Given the description of an element on the screen output the (x, y) to click on. 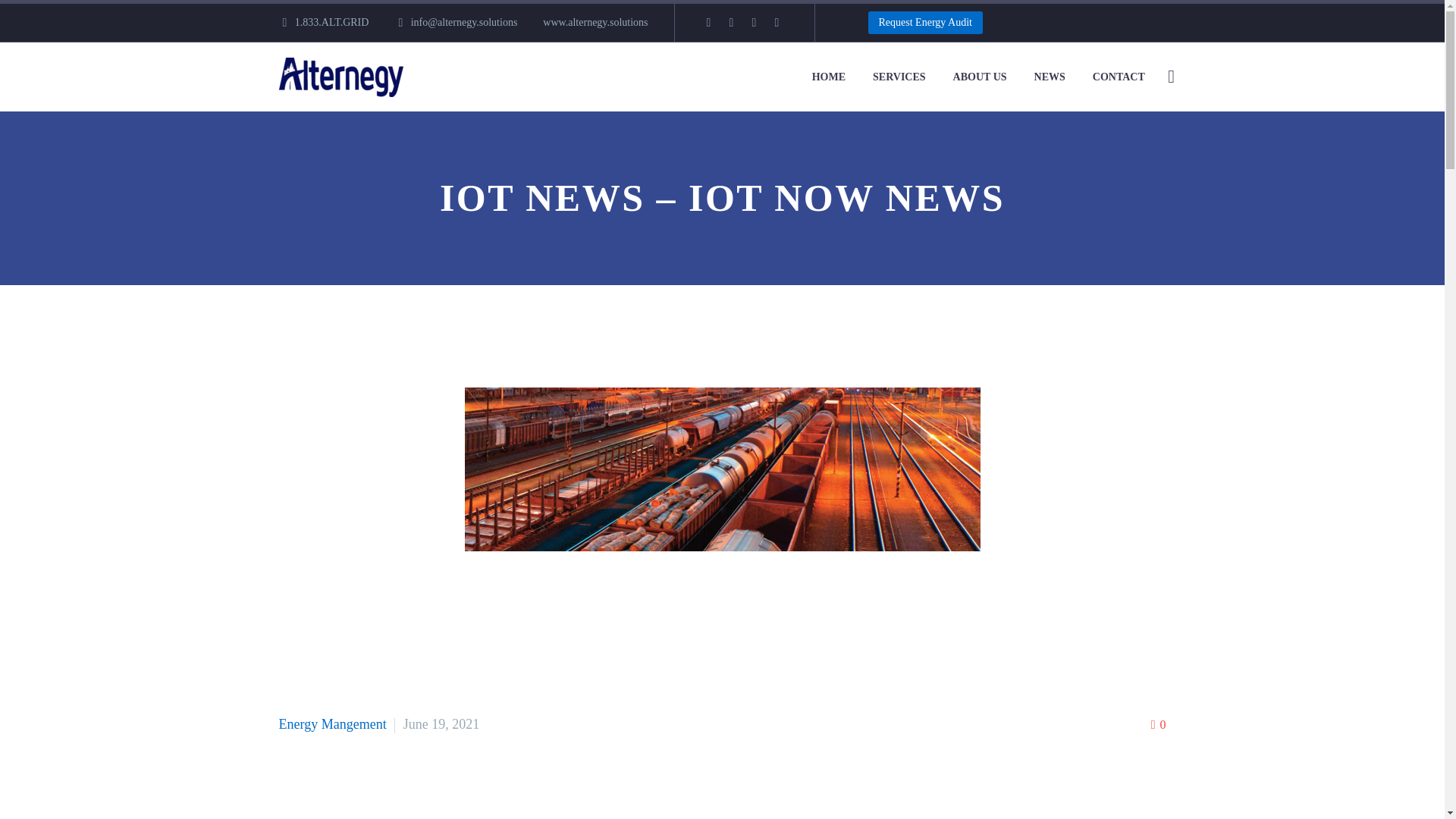
Facebook (708, 22)
View all posts in Energy Mangement (333, 724)
Twitter (731, 22)
www.alternegy.solutions (595, 21)
SERVICES (899, 76)
1.833.ALT.GRID (332, 21)
Pinterest (777, 22)
Request Energy Audit (924, 22)
HOME (828, 76)
Instagram (753, 22)
